Given the description of an element on the screen output the (x, y) to click on. 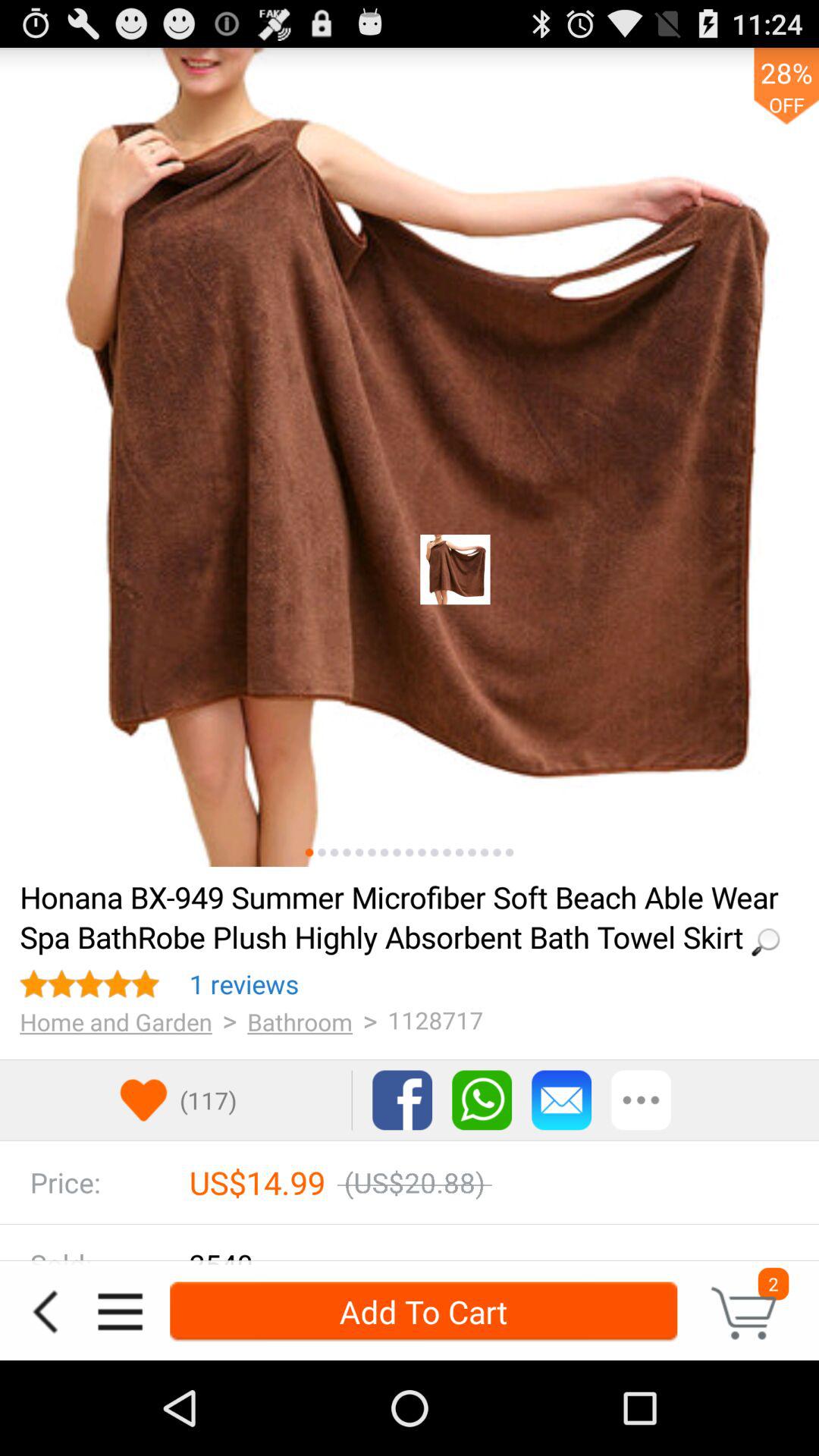
choose the item above loading... icon (359, 852)
